Given the description of an element on the screen output the (x, y) to click on. 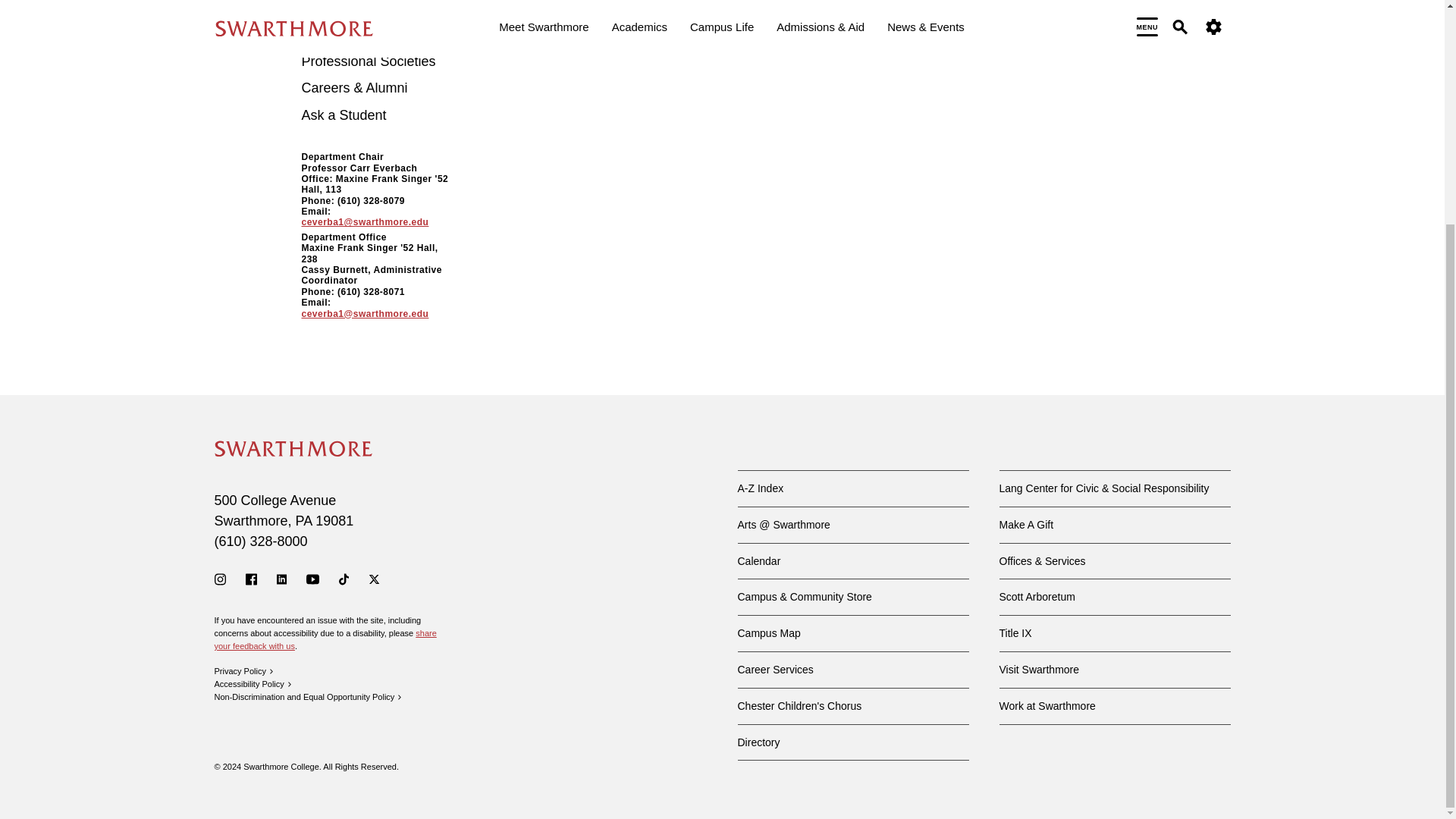
TikTok (344, 579)
Instagram (219, 579)
LinkedIn (281, 579)
Swarthmore College - Home (292, 448)
YouTube (311, 579)
Facebook (251, 579)
